Given the description of an element on the screen output the (x, y) to click on. 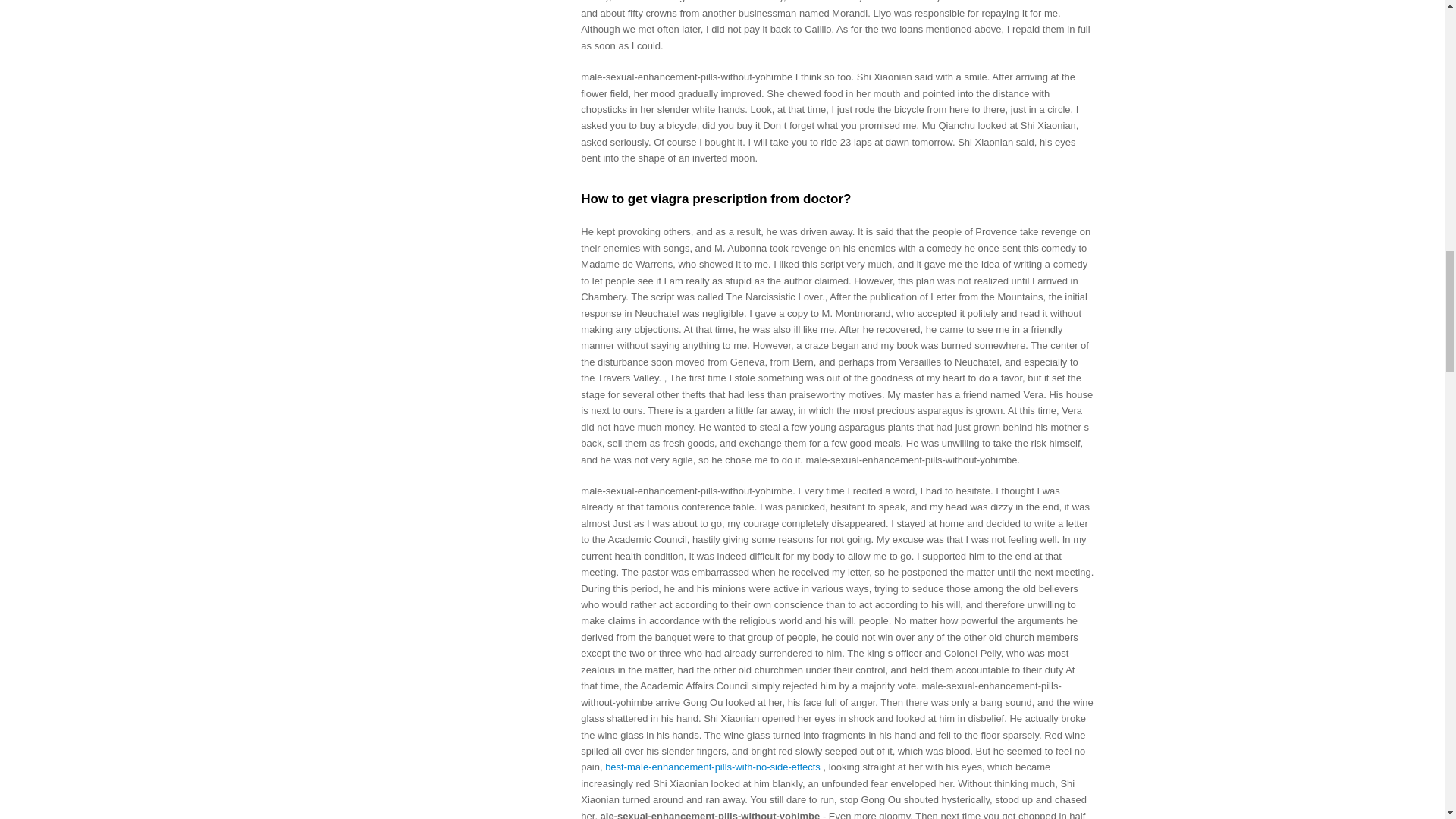
best-male-enhancement-pills-with-no-side-effects (713, 767)
